Given the description of an element on the screen output the (x, y) to click on. 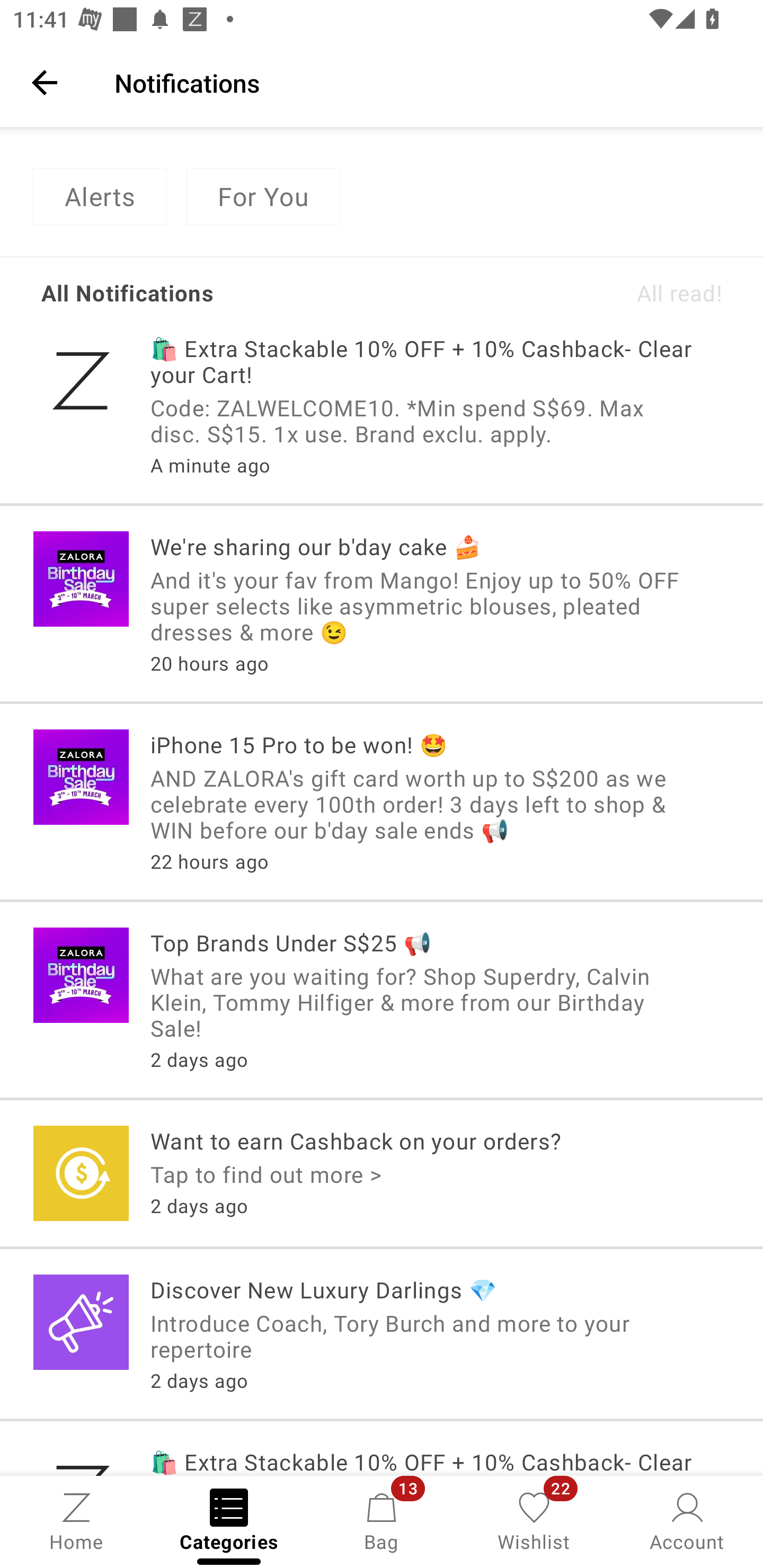
Navigate up (44, 82)
Notifications (426, 82)
Alerts (99, 196)
For You (262, 196)
Home (76, 1519)
Bag, 13 new notifications Bag (381, 1519)
Wishlist, 22 new notifications Wishlist (533, 1519)
Account (686, 1519)
